Given the description of an element on the screen output the (x, y) to click on. 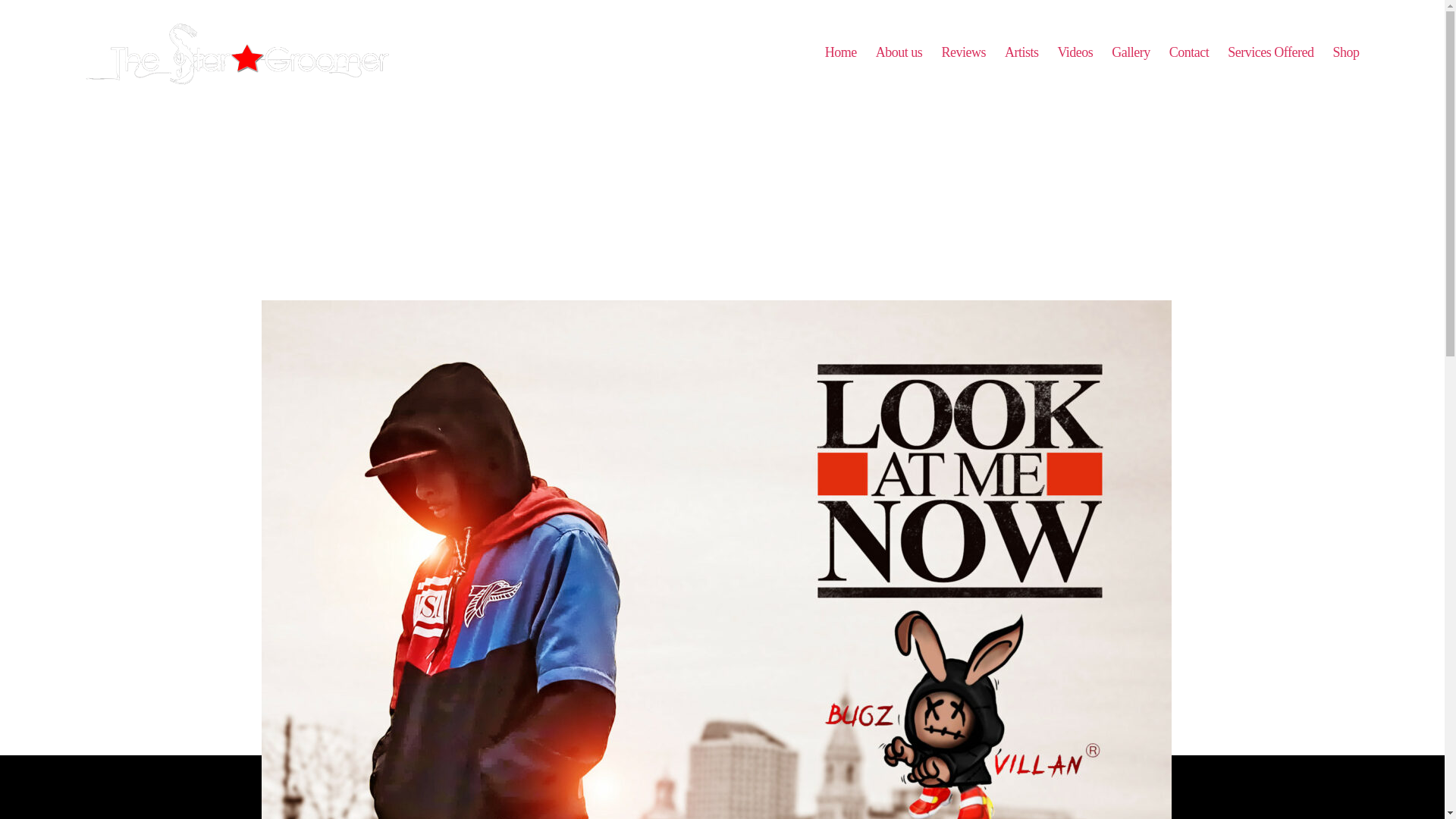
Gallery (1131, 53)
Home (841, 53)
Contact (1189, 53)
Artists (1021, 53)
About us (899, 53)
Services Offered (1270, 53)
Videos (1075, 53)
Shop (1345, 53)
Reviews (962, 53)
